Given the description of an element on the screen output the (x, y) to click on. 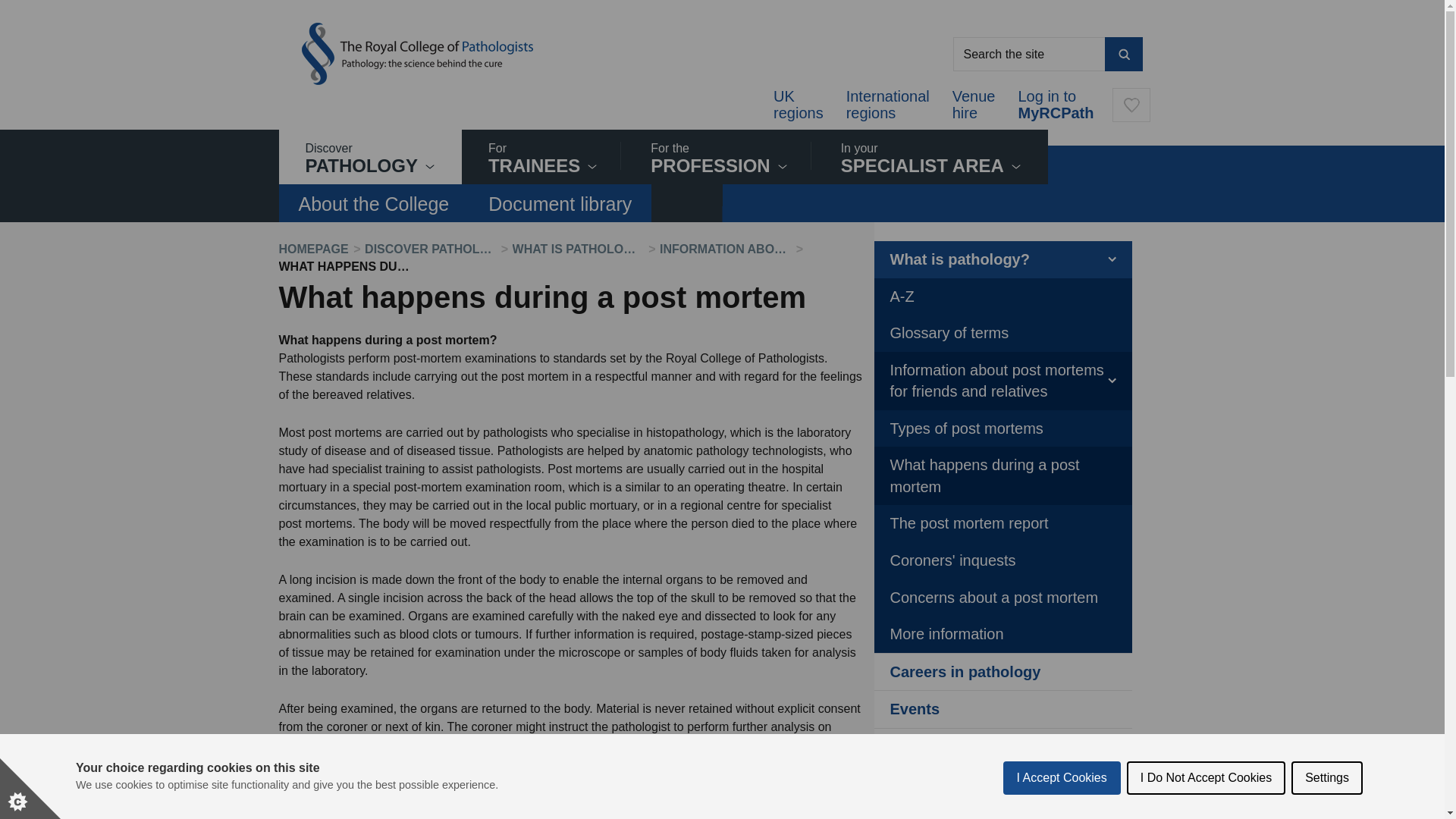
I Accept Cookies (1062, 777)
submit (798, 104)
Settings (888, 104)
I Do Not Accept Cookies (541, 158)
